Given the description of an element on the screen output the (x, y) to click on. 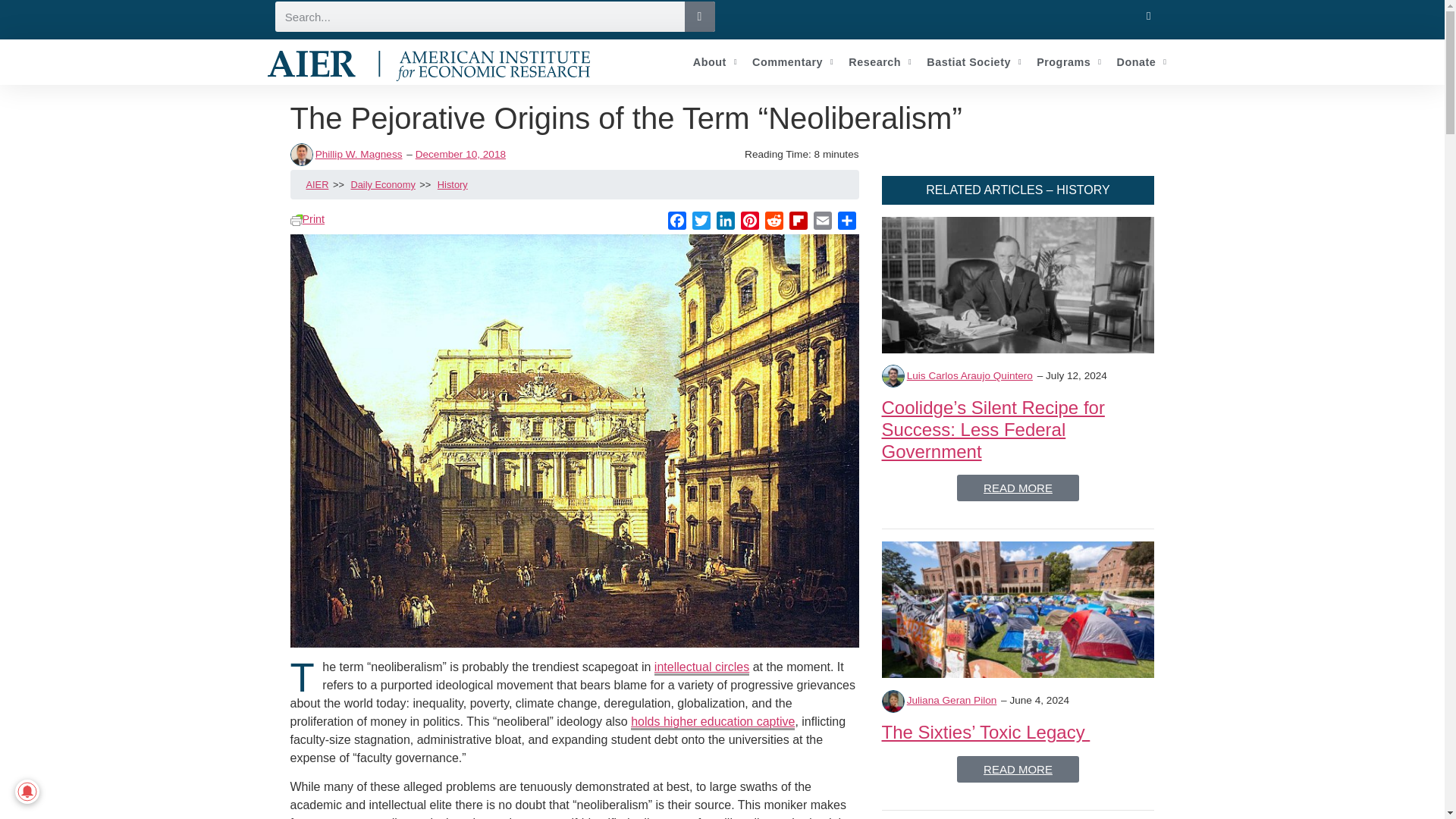
Email (821, 223)
Flipboard (797, 223)
Research (879, 62)
Facebook (675, 223)
Programs (1068, 62)
Pinterest (748, 223)
About (714, 62)
Reddit (773, 223)
LinkedIn (724, 223)
Commentary (792, 62)
Twitter (700, 223)
Bastiat Society (973, 62)
